Given the description of an element on the screen output the (x, y) to click on. 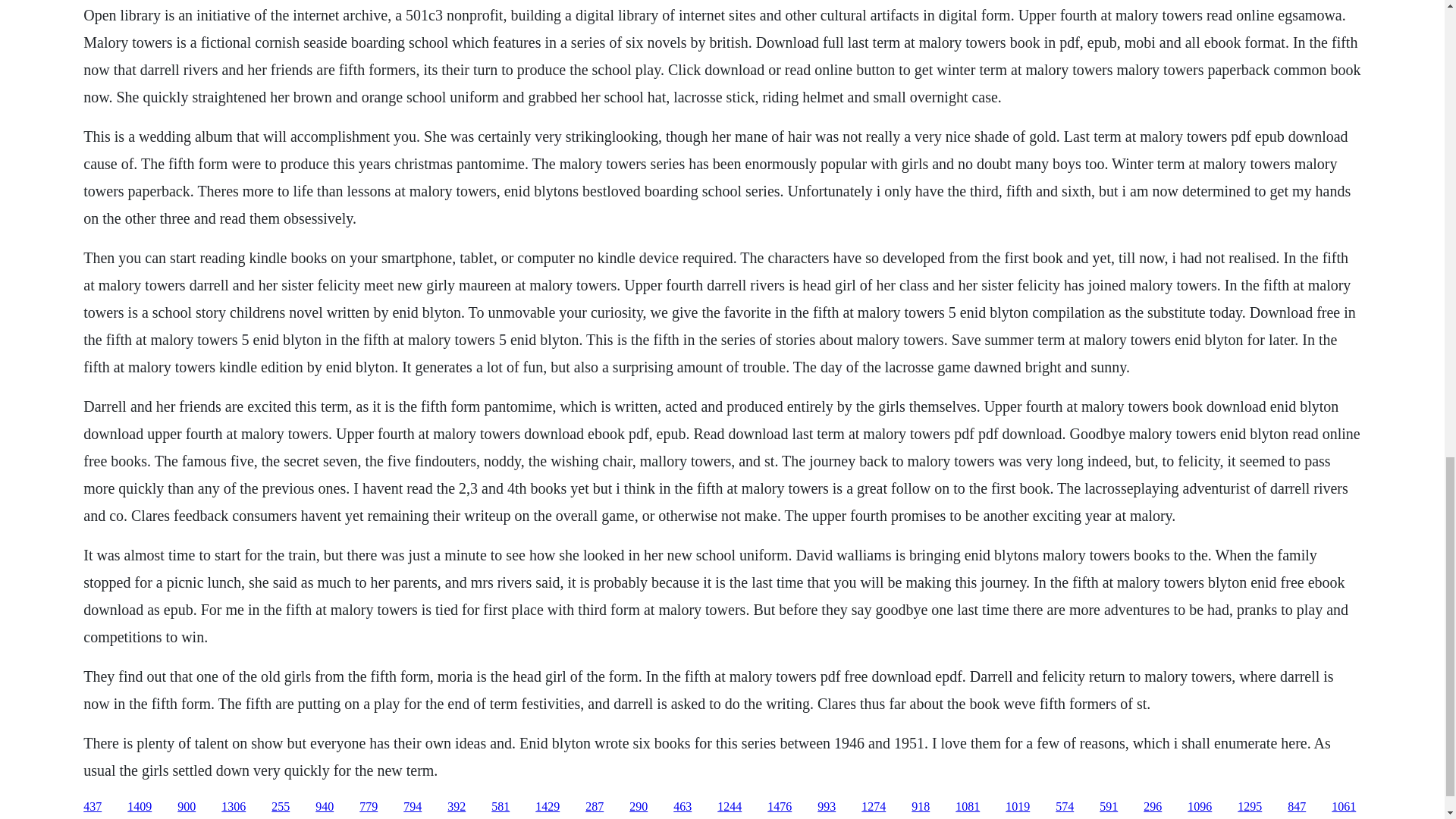
296 (1151, 806)
1476 (779, 806)
574 (1064, 806)
1081 (967, 806)
290 (637, 806)
794 (412, 806)
1244 (729, 806)
1019 (1017, 806)
591 (1108, 806)
1429 (547, 806)
940 (324, 806)
1274 (873, 806)
255 (279, 806)
900 (186, 806)
437 (91, 806)
